Given the description of an element on the screen output the (x, y) to click on. 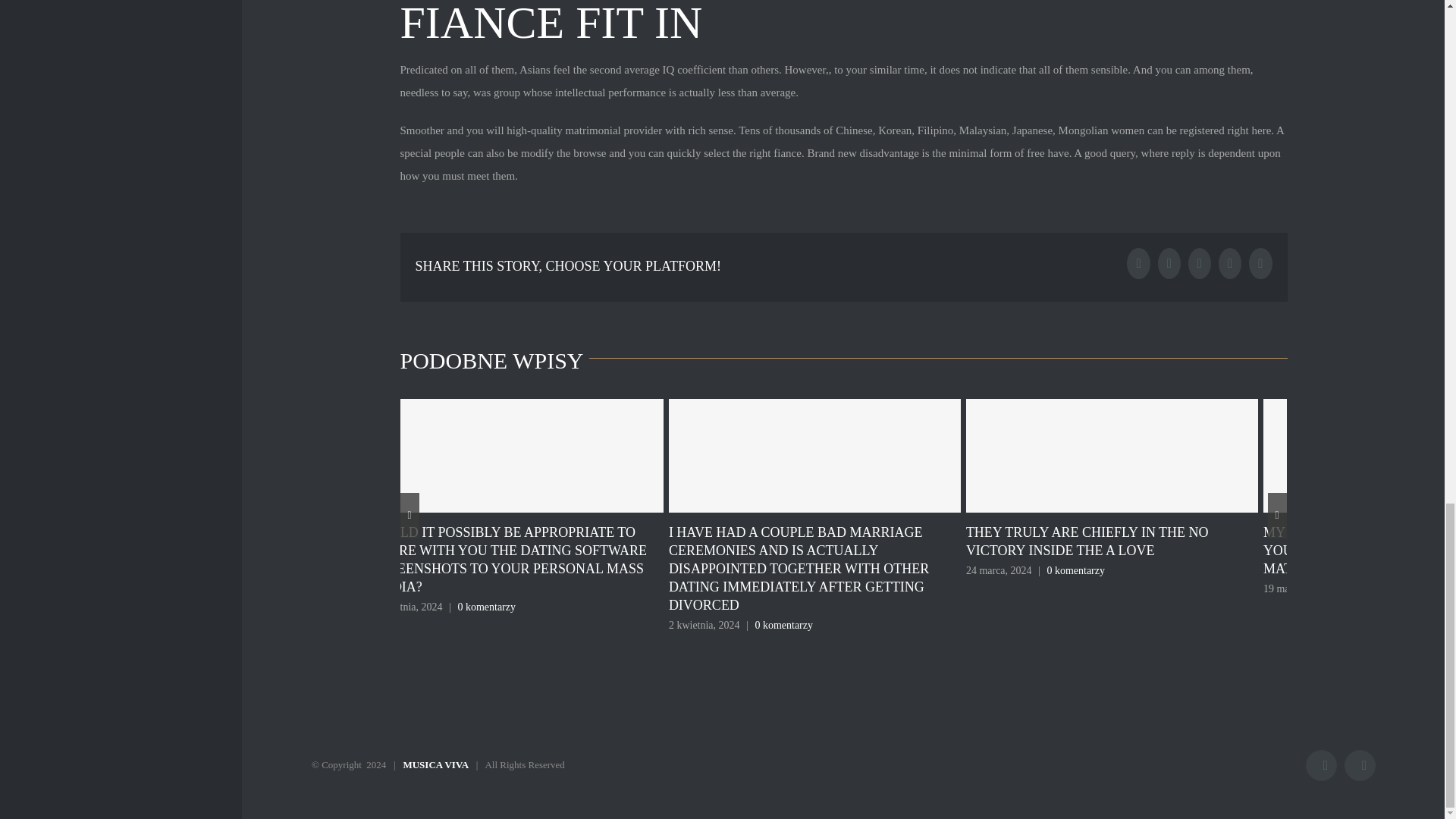
0 komentarzy (783, 624)
THEY TRULY ARE CHIEFLY IN THE NO VICTORY INSIDE THE A LOVE (1087, 540)
Facebook (1321, 765)
Vimeo (1359, 765)
0 komentarzy (1075, 570)
0 komentarzy (486, 606)
